Given the description of an element on the screen output the (x, y) to click on. 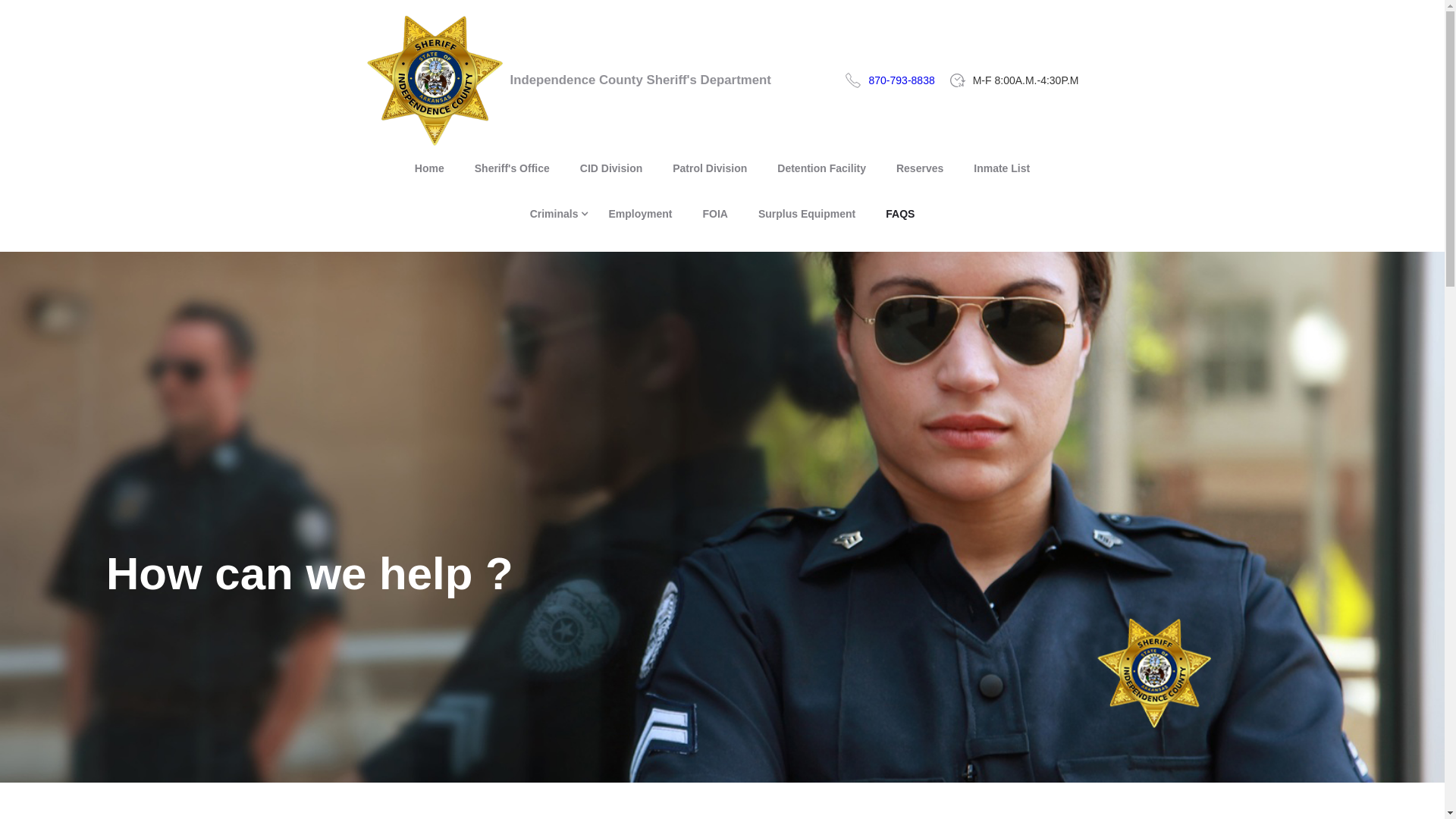
Surplus Equipment (806, 213)
FOIA (714, 213)
Home (429, 167)
Patrol Division (709, 167)
Sheriff's Office (512, 167)
Detention Facility (820, 167)
Reserves (919, 167)
Employment (639, 213)
FAQS (900, 213)
Inmate List (1001, 167)
870-793-8838 (901, 79)
Independence County Sheriff's Department (567, 80)
CID Division (611, 167)
